Given the description of an element on the screen output the (x, y) to click on. 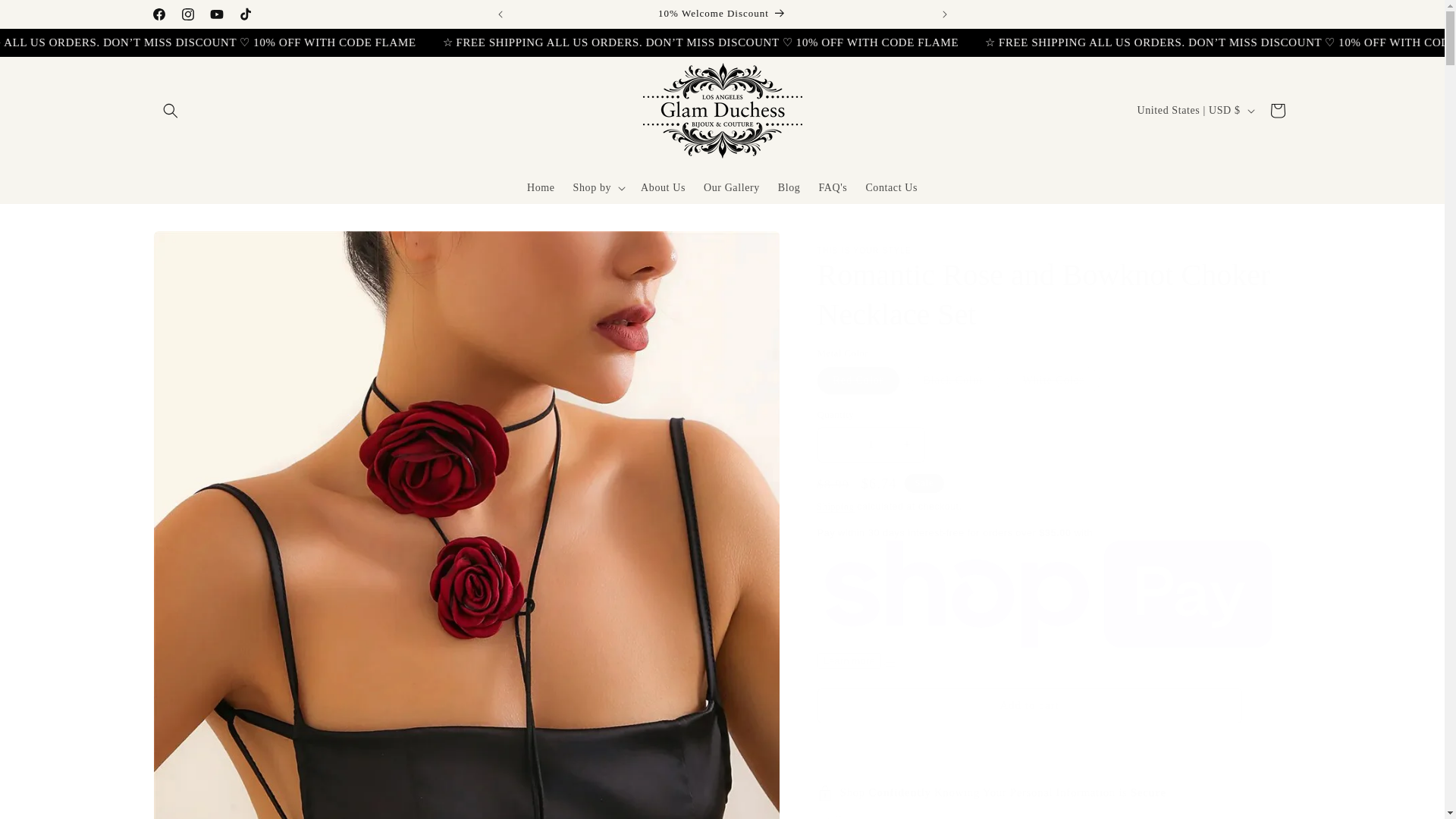
YouTube (216, 14)
TikTok (244, 14)
Instagram (187, 14)
1 (870, 444)
Home (541, 187)
Facebook (158, 14)
Skip to content (45, 17)
